Given the description of an element on the screen output the (x, y) to click on. 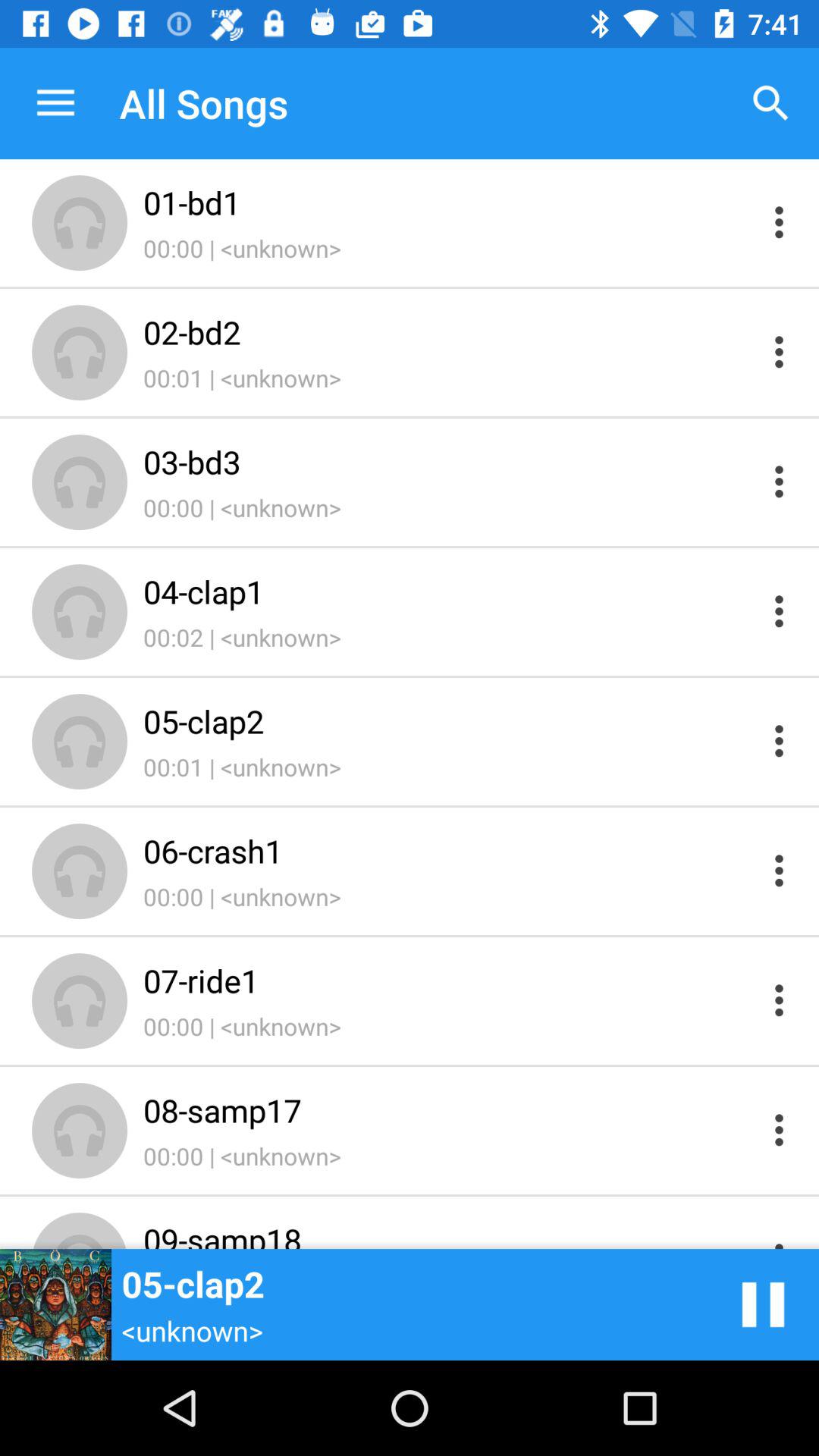
go to options (779, 1233)
